Given the description of an element on the screen output the (x, y) to click on. 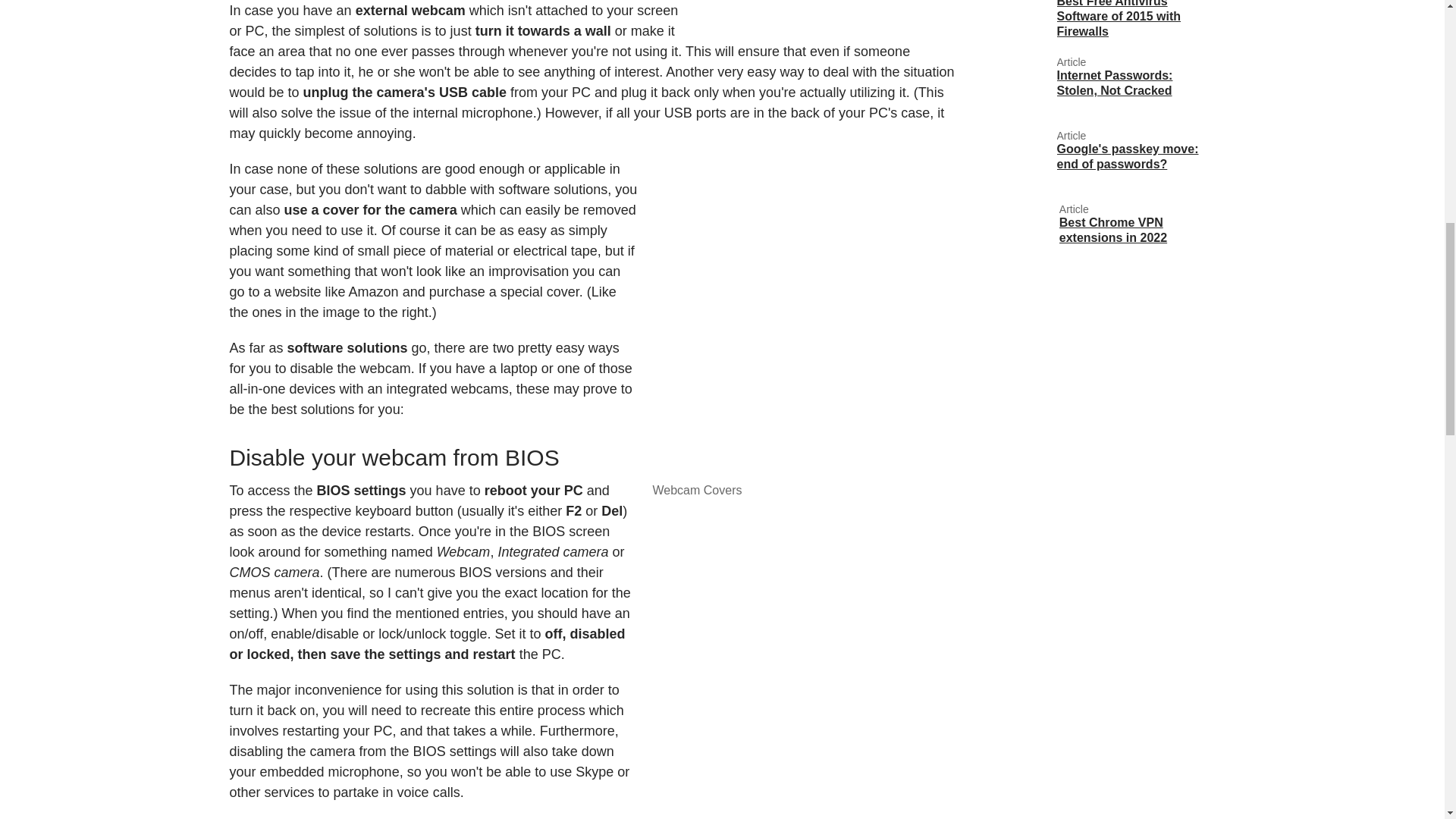
Advertisement (827, 12)
Webcam Covers (803, 327)
Webcam in BIOS (803, 677)
